Given the description of an element on the screen output the (x, y) to click on. 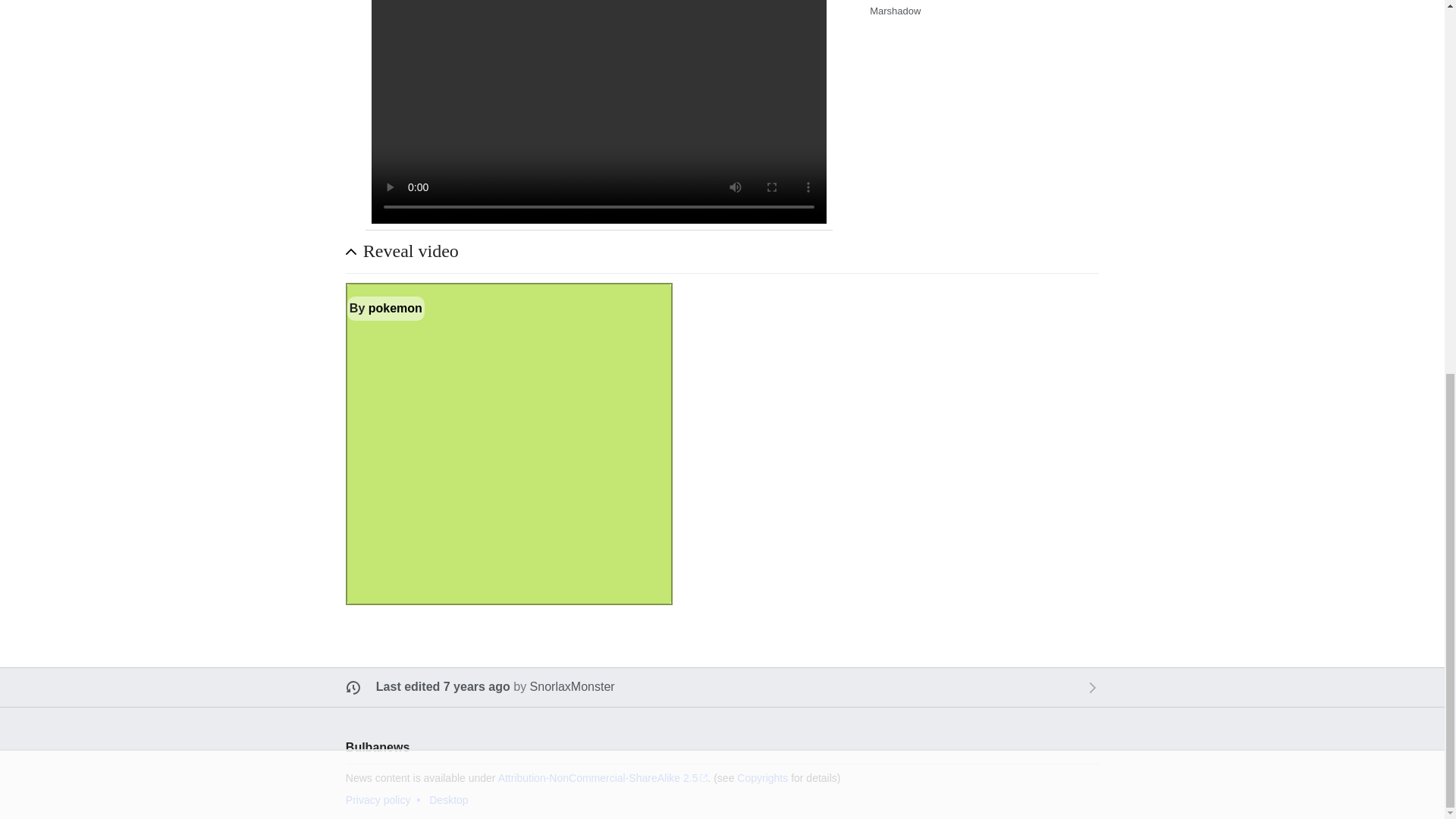
Attribution-NonCommercial-ShareAlike 2.5 (602, 777)
Copyrights (761, 777)
pokemon (395, 308)
Privacy policy (378, 799)
Desktop (448, 799)
